Given the description of an element on the screen output the (x, y) to click on. 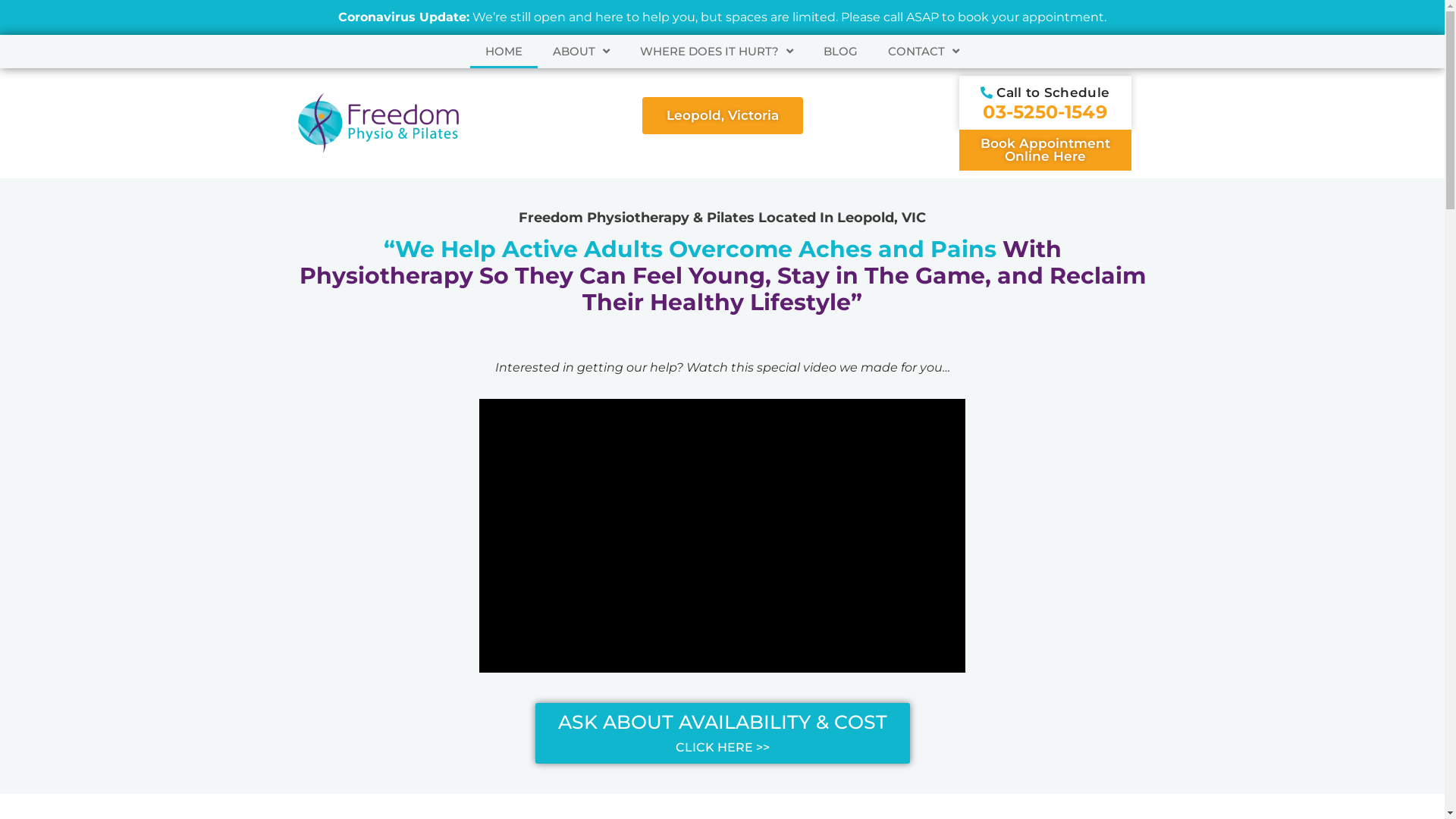
HOME Element type: text (503, 51)
BLOG Element type: text (840, 51)
Book Appointment Online Here Element type: text (1044, 149)
CONTACT Element type: text (923, 51)
03-5250-1549 Element type: text (1044, 113)
ASK ABOUT AVAILABILITY & COST
CLICK HERE >> Element type: text (722, 732)
ABOUT Element type: text (580, 51)
vimeo Video Player Element type: hover (722, 535)
WHERE DOES IT HURT? Element type: text (716, 51)
Leopold, Victoria Element type: text (721, 115)
